Given the description of an element on the screen output the (x, y) to click on. 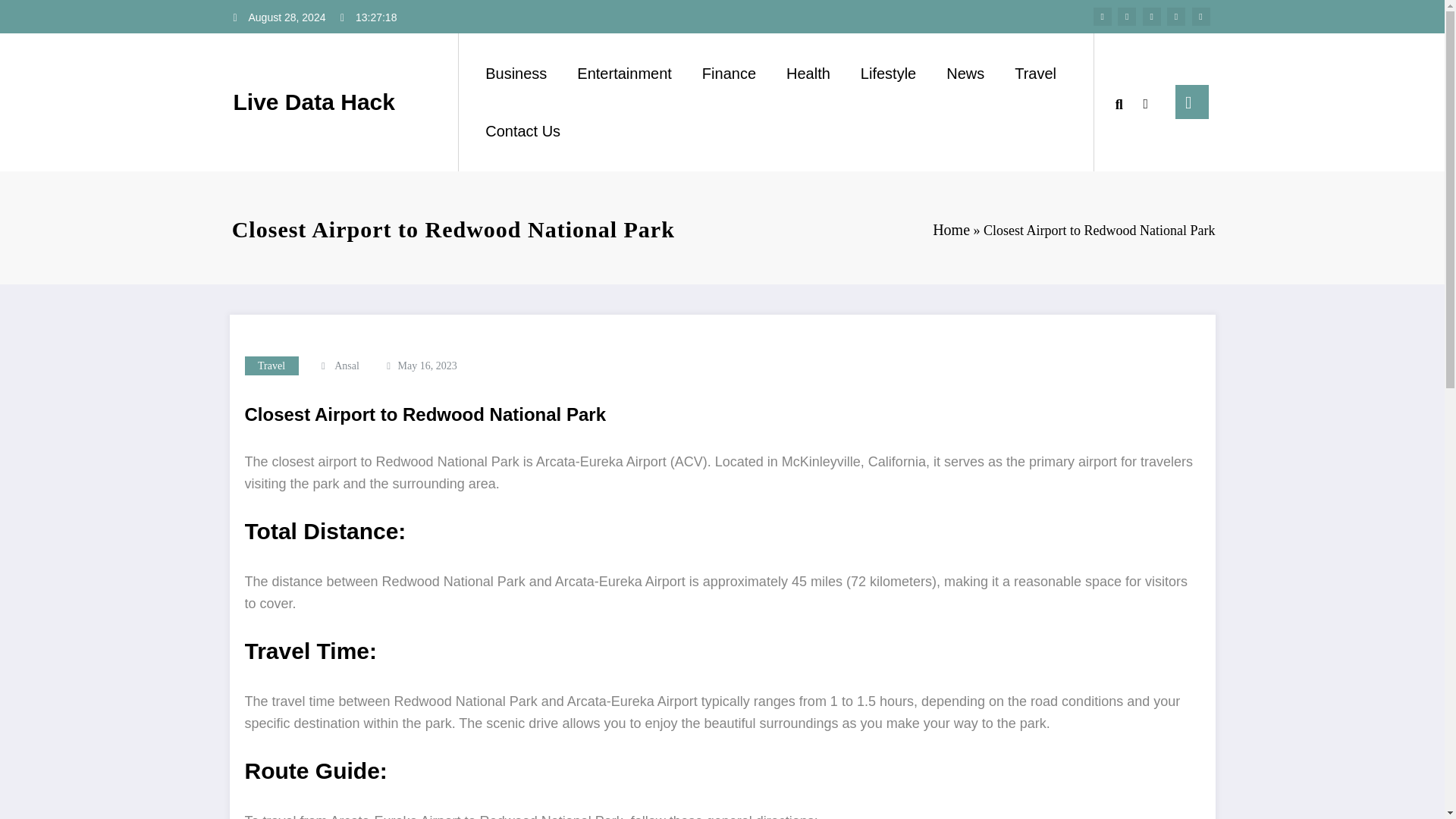
Health (808, 73)
Finance (729, 73)
Live Data Hack (313, 101)
Home (951, 229)
instagram (1176, 16)
Lifestyle (888, 73)
Ansal (346, 365)
facebook-f (1102, 16)
Travel (271, 365)
May 16, 2023 (427, 365)
